Given the description of an element on the screen output the (x, y) to click on. 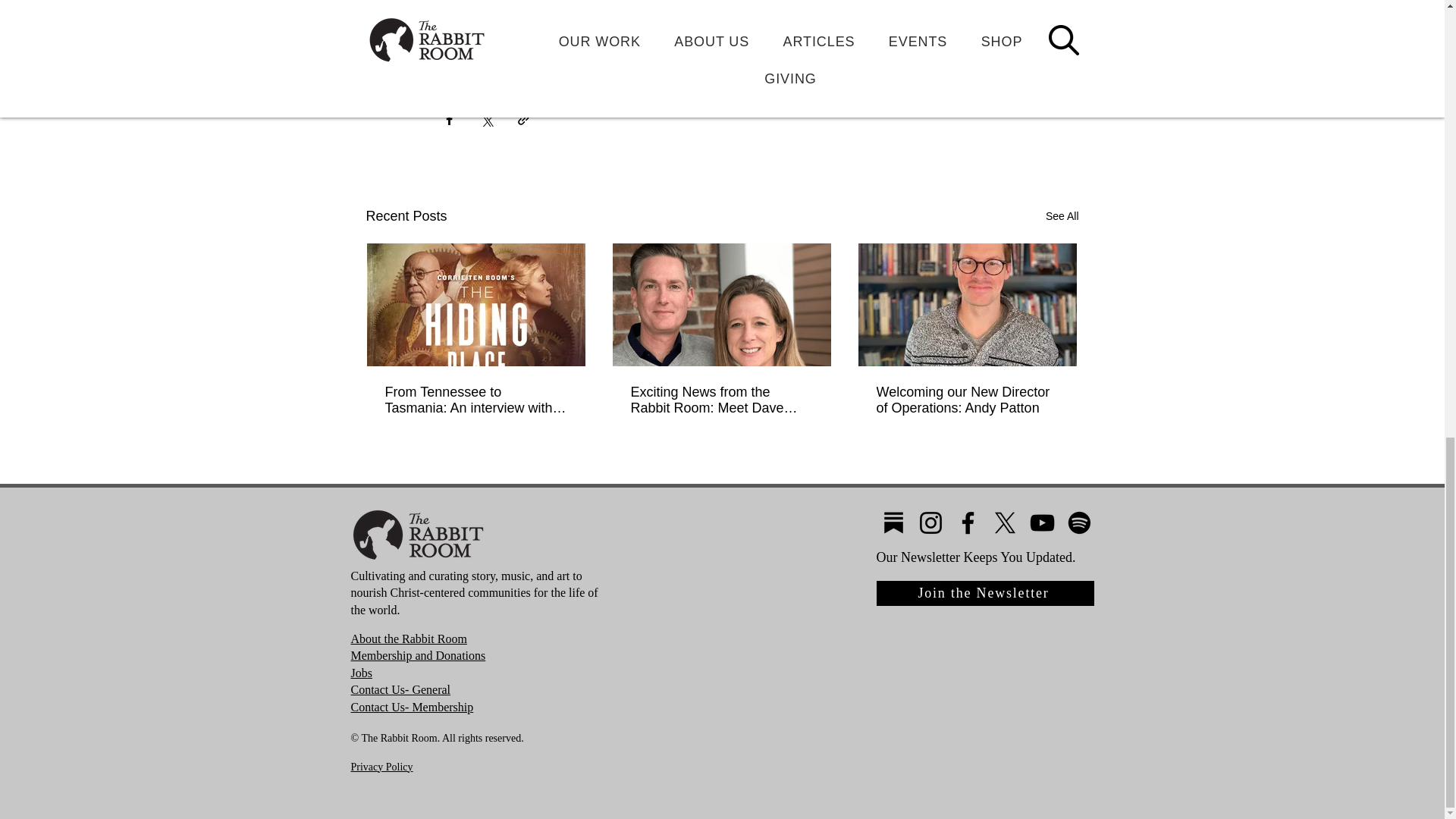
Exciting News from the Rabbit Room: Meet Dave Bruno (721, 400)
See All (1061, 216)
Welcoming our New Director of Operations: Andy Patton (967, 400)
